Given the description of an element on the screen output the (x, y) to click on. 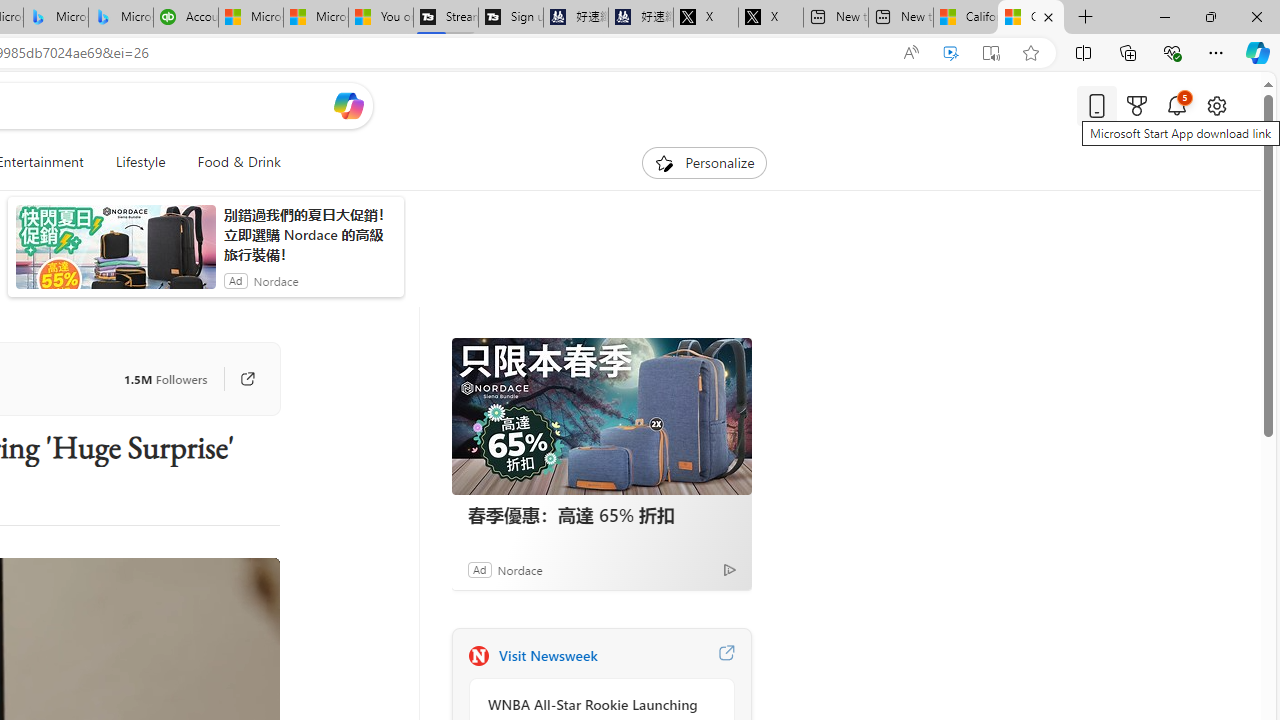
Enter Immersive Reader (F9) (991, 53)
